Given the description of an element on the screen output the (x, y) to click on. 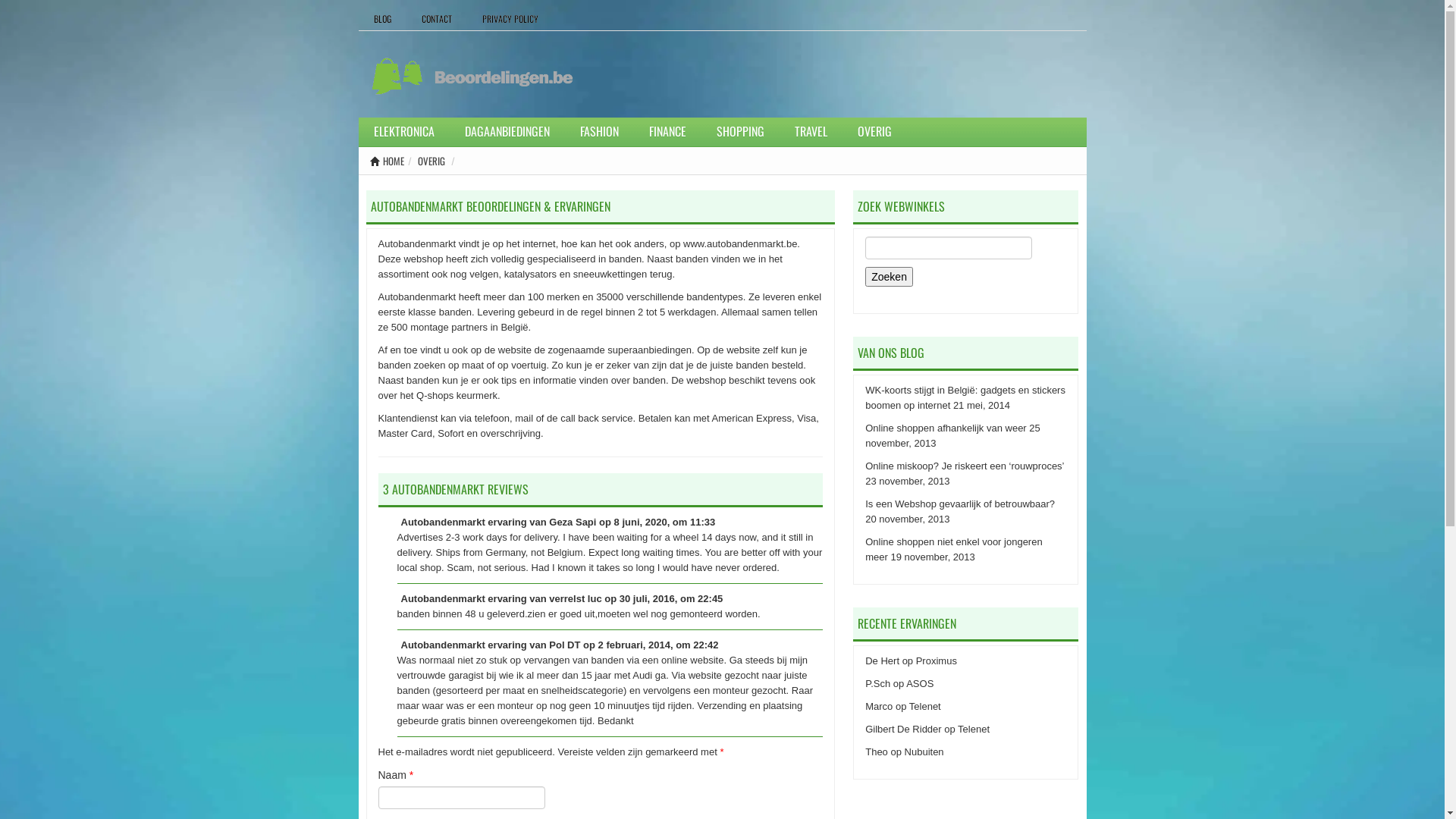
FASHION Element type: text (598, 131)
OVERIG Element type: text (430, 160)
Telenet Element type: text (925, 706)
FINANCE Element type: text (667, 131)
Beoordelingen.be Element type: hover (471, 75)
SHOPPING Element type: text (739, 131)
HOME Element type: text (387, 160)
Online shoppen niet enkel voor jongeren meer Element type: text (953, 549)
Online shoppen afhankelijk van weer Element type: text (945, 427)
Is een Webshop gevaarlijk of betrouwbaar? Element type: text (959, 503)
CONTACT Element type: text (436, 18)
Zoeken Element type: text (889, 276)
PRIVACY POLICY Element type: text (510, 18)
TRAVEL Element type: text (810, 131)
ELEKTRONICA Element type: text (402, 131)
Nubuiten Element type: text (924, 751)
Proximus Element type: text (936, 660)
ASOS Element type: text (919, 683)
Telenet Element type: text (973, 728)
BLOG Element type: text (381, 18)
DAGAANBIEDINGEN Element type: text (506, 131)
OVERIG Element type: text (873, 131)
